Given the description of an element on the screen output the (x, y) to click on. 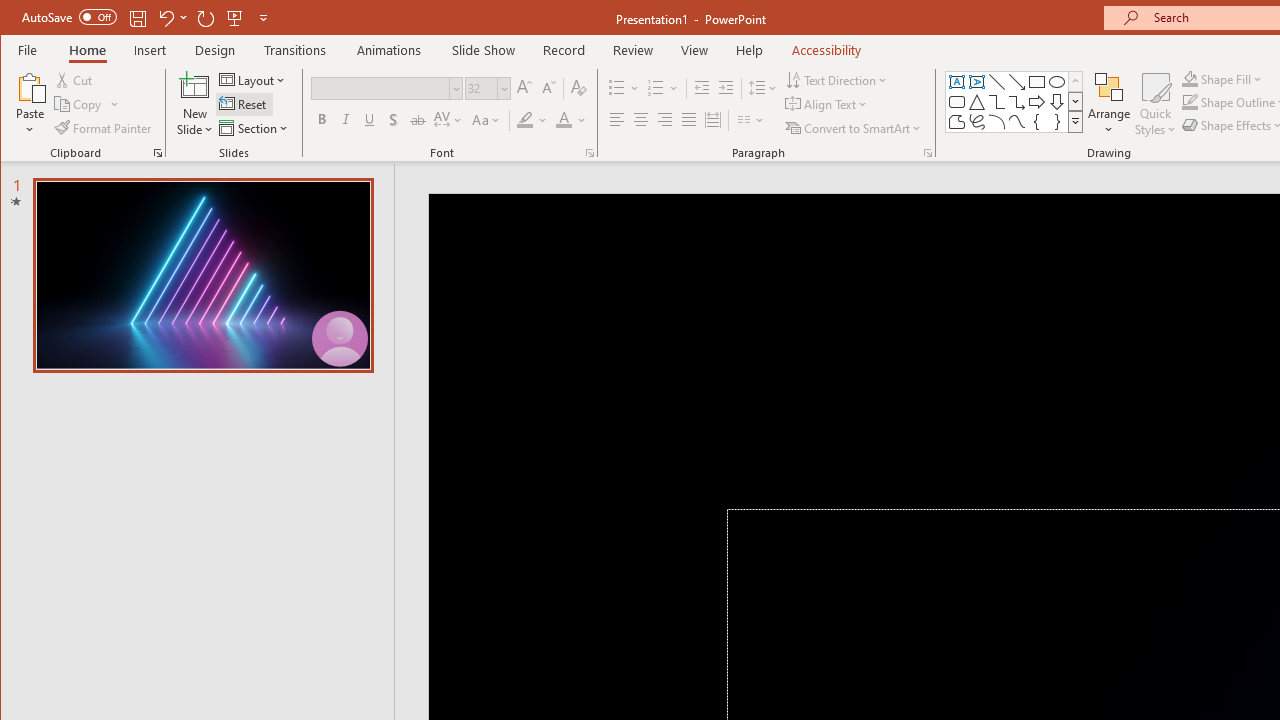
Bold (321, 119)
Connector: Elbow (996, 102)
Paragraph... (927, 152)
Curve (1016, 121)
Justify (689, 119)
Format Painter (104, 127)
Freeform: Scribble (976, 121)
Open (502, 88)
Shape Outline Blue, Accent 1 (1189, 101)
